Given the description of an element on the screen output the (x, y) to click on. 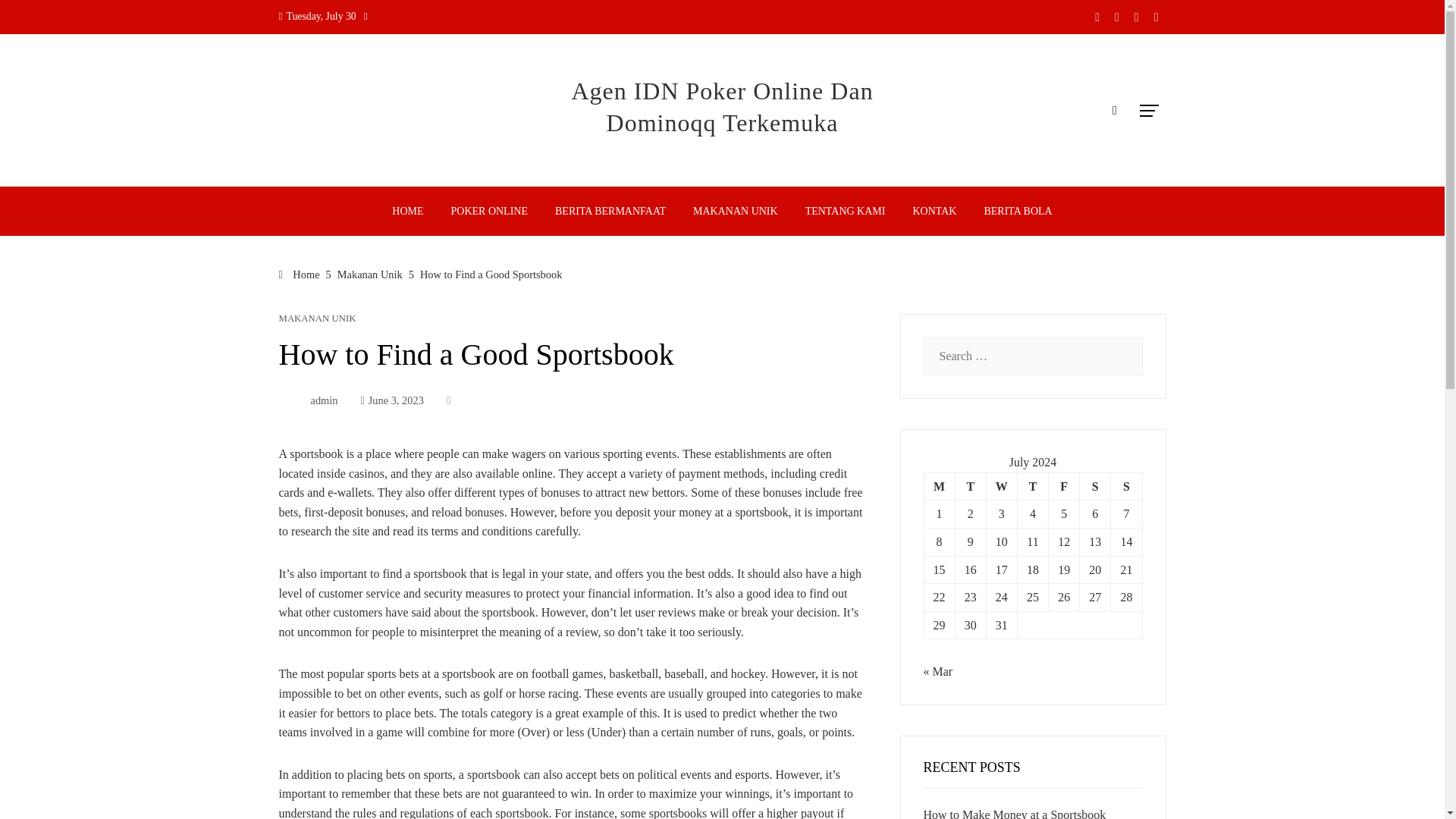
POKER ONLINE (489, 210)
Tuesday (970, 486)
HOME (406, 210)
TENTANG KAMI (844, 210)
Search (35, 18)
BERITA BOLA (1017, 210)
Sunday (1125, 486)
Agen IDN Poker Online Dan Dominoqq Terkemuka (721, 106)
MAKANAN UNIK (735, 210)
Thursday (1032, 486)
Saturday (1095, 486)
Home (299, 274)
KONTAK (934, 210)
Monday (939, 486)
BERITA BERMANFAAT (610, 210)
